Given the description of an element on the screen output the (x, y) to click on. 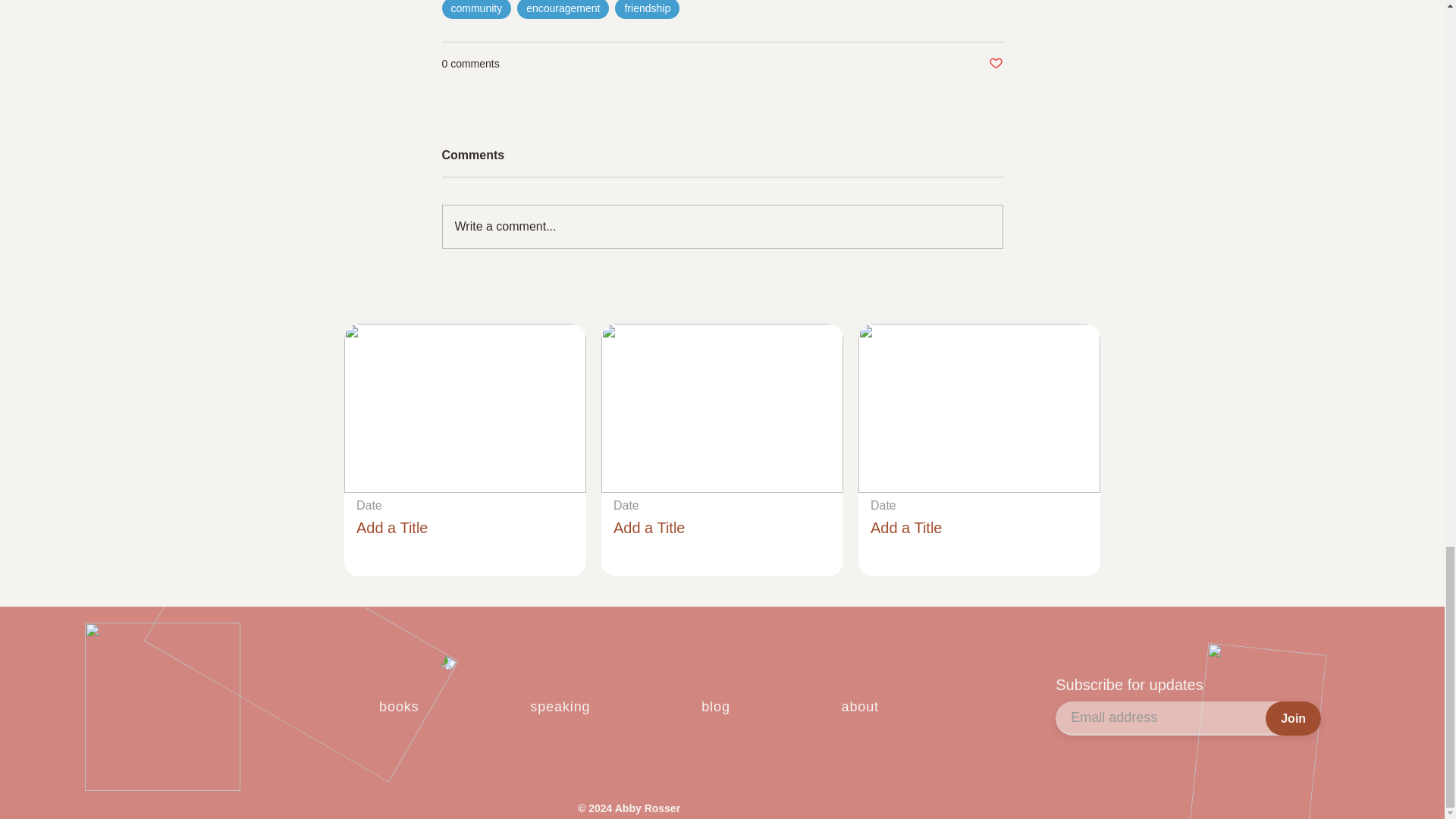
Post not marked as liked (995, 64)
community (476, 9)
about (859, 707)
Join (1292, 718)
Write a comment... (722, 226)
speaking (560, 707)
blog (715, 707)
books (398, 707)
encouragement (562, 9)
friendship (646, 9)
